Given the description of an element on the screen output the (x, y) to click on. 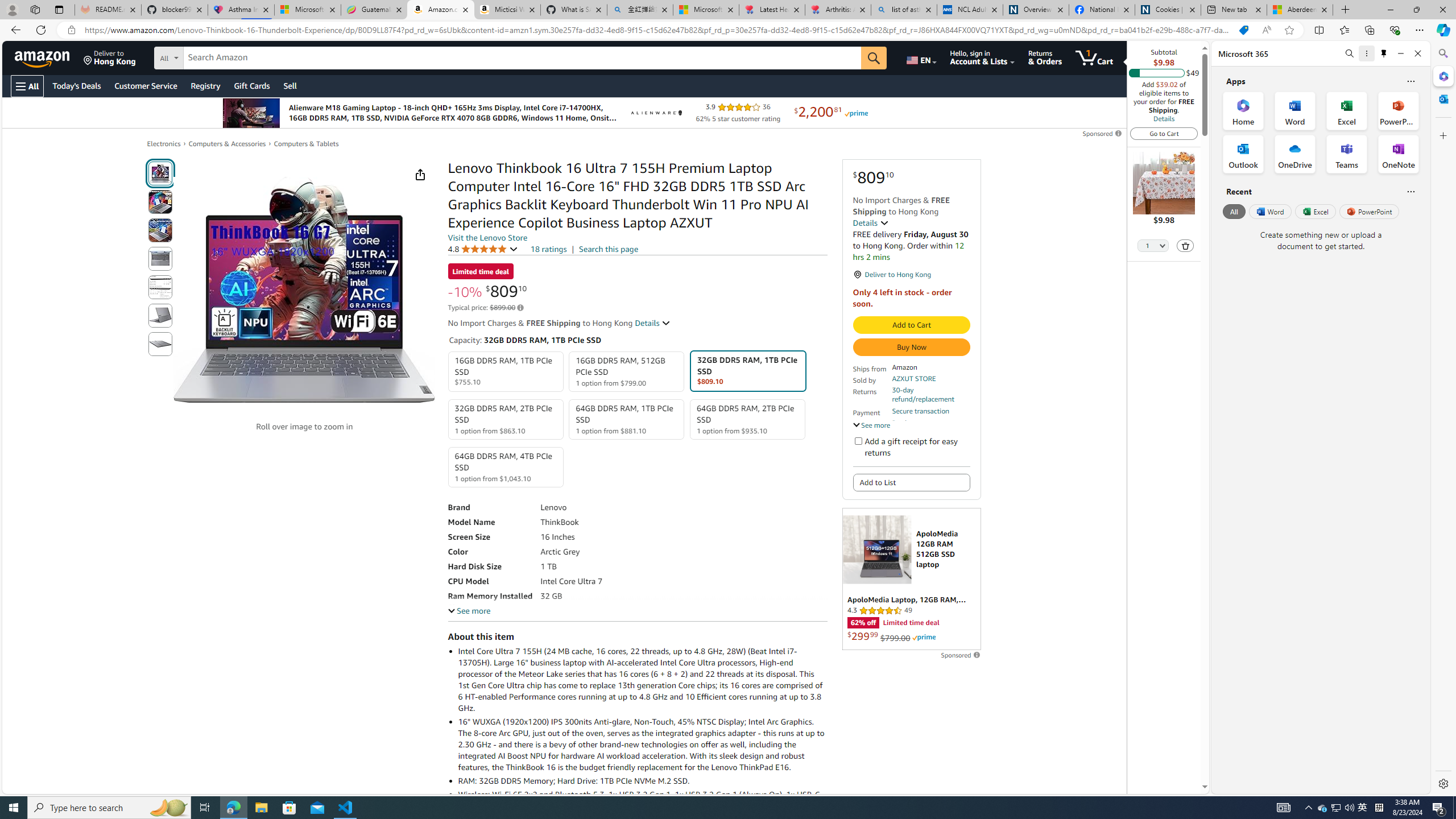
All (1233, 210)
Today's Deals (76, 85)
Deliver to Hong Kong (109, 57)
Home Office App (1243, 110)
30-day refund/replacement (930, 394)
Search in (210, 56)
